Given the description of an element on the screen output the (x, y) to click on. 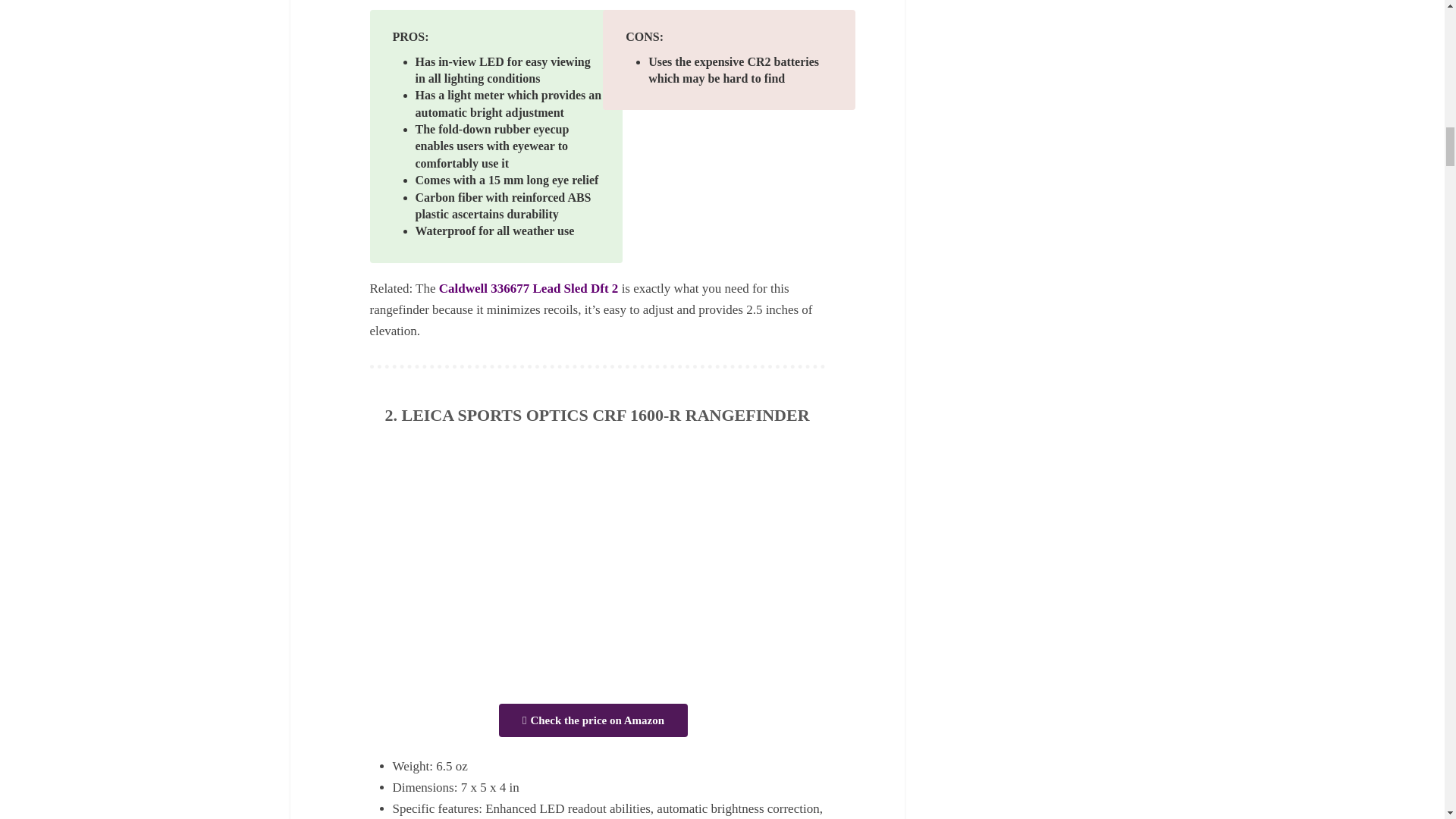
Caldwell 336677 Lead Sled Dft 2 (528, 288)
